Given the description of an element on the screen output the (x, y) to click on. 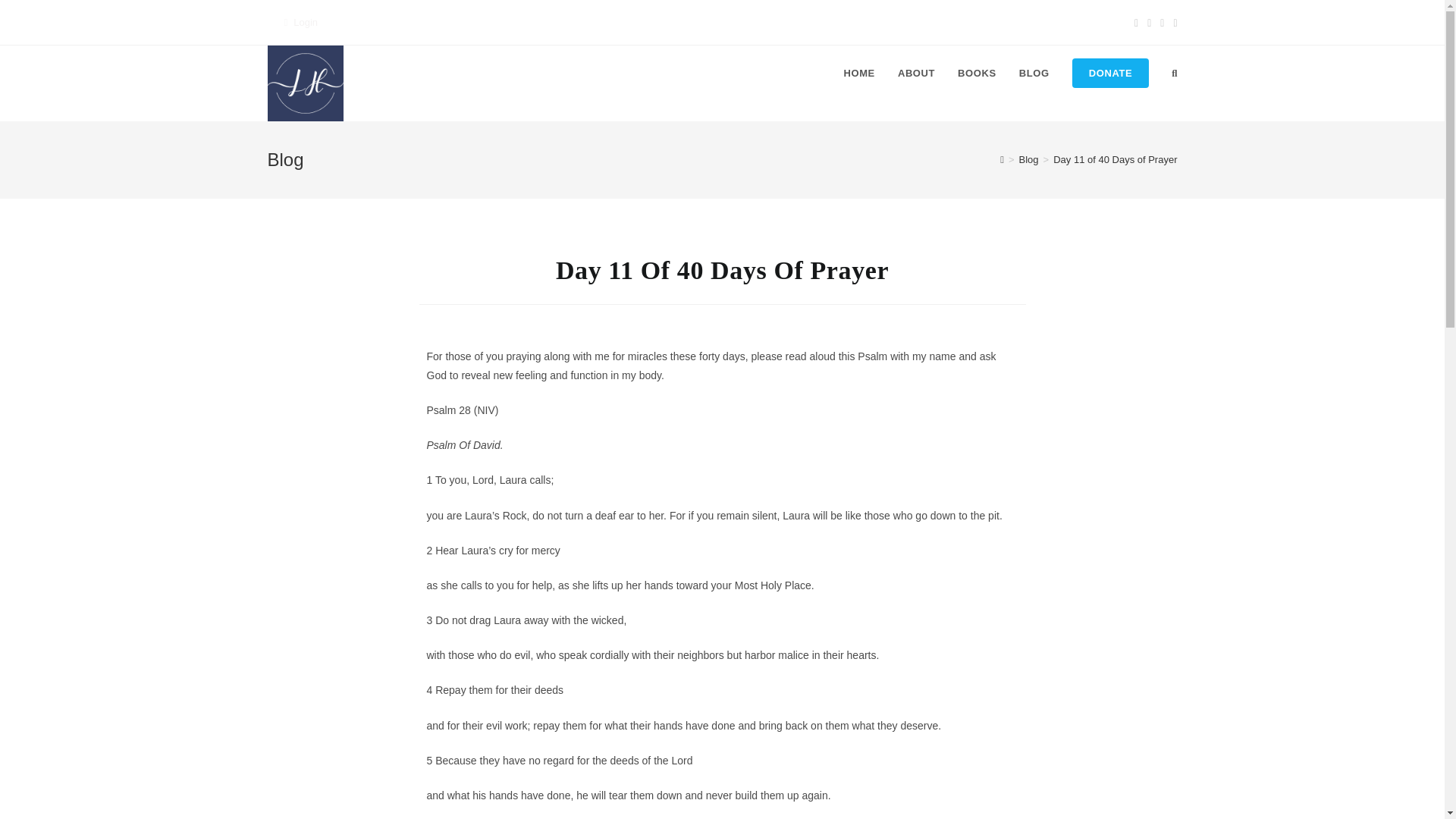
Login (305, 21)
ABOUT (916, 73)
DONATE (1110, 73)
BOOKS (976, 73)
BLOG (1034, 73)
Day 11 of 40 Days of Prayer (1114, 159)
Blog (1029, 159)
HOME (858, 73)
